Given the description of an element on the screen output the (x, y) to click on. 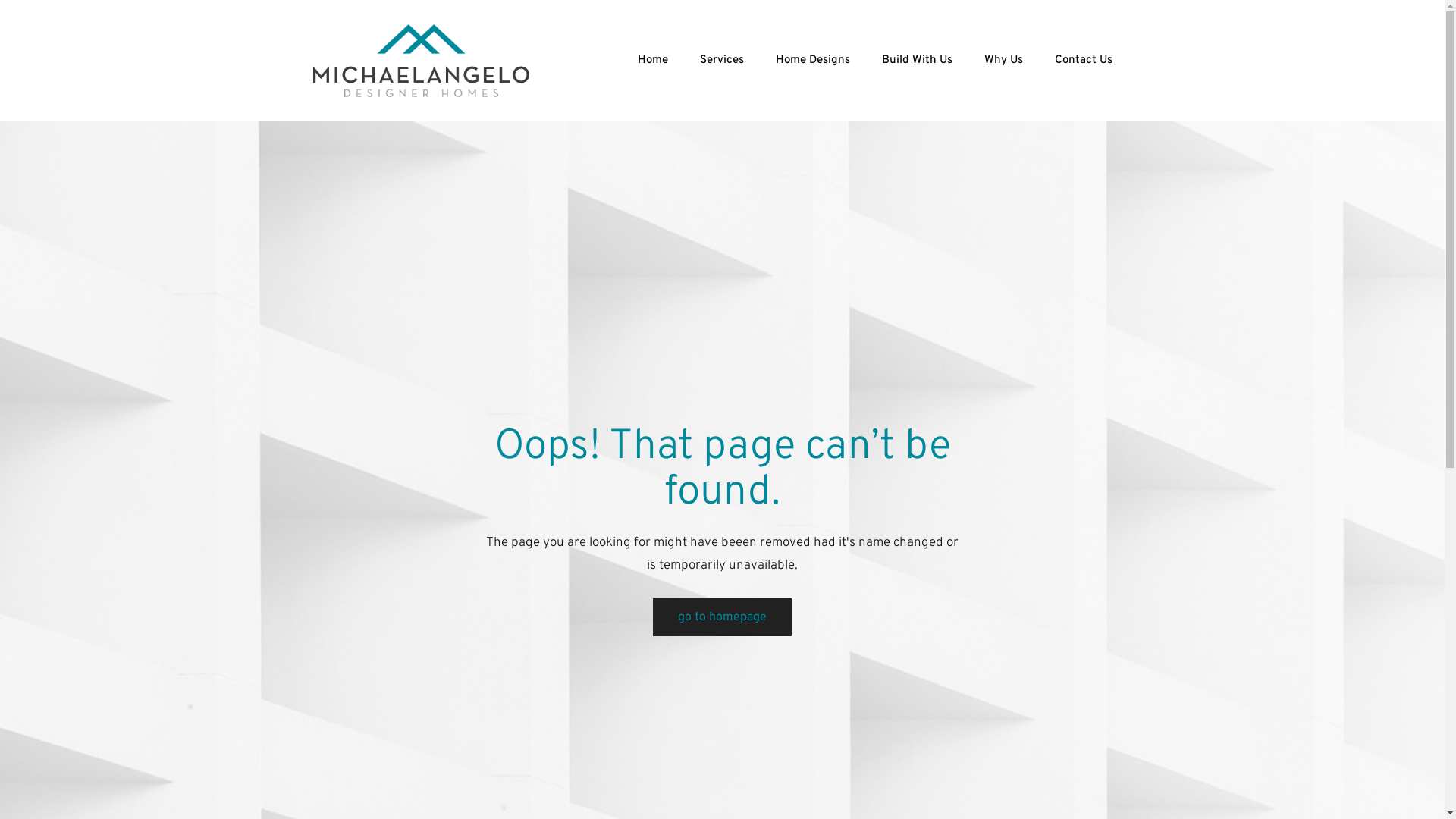
go to homepage Element type: text (721, 617)
Why Us Element type: text (1003, 60)
Home Designs Element type: text (812, 60)
Services Element type: text (721, 60)
Build With Us Element type: text (916, 60)
Contact Us Element type: text (1083, 60)
Home Element type: text (652, 60)
